Given the description of an element on the screen output the (x, y) to click on. 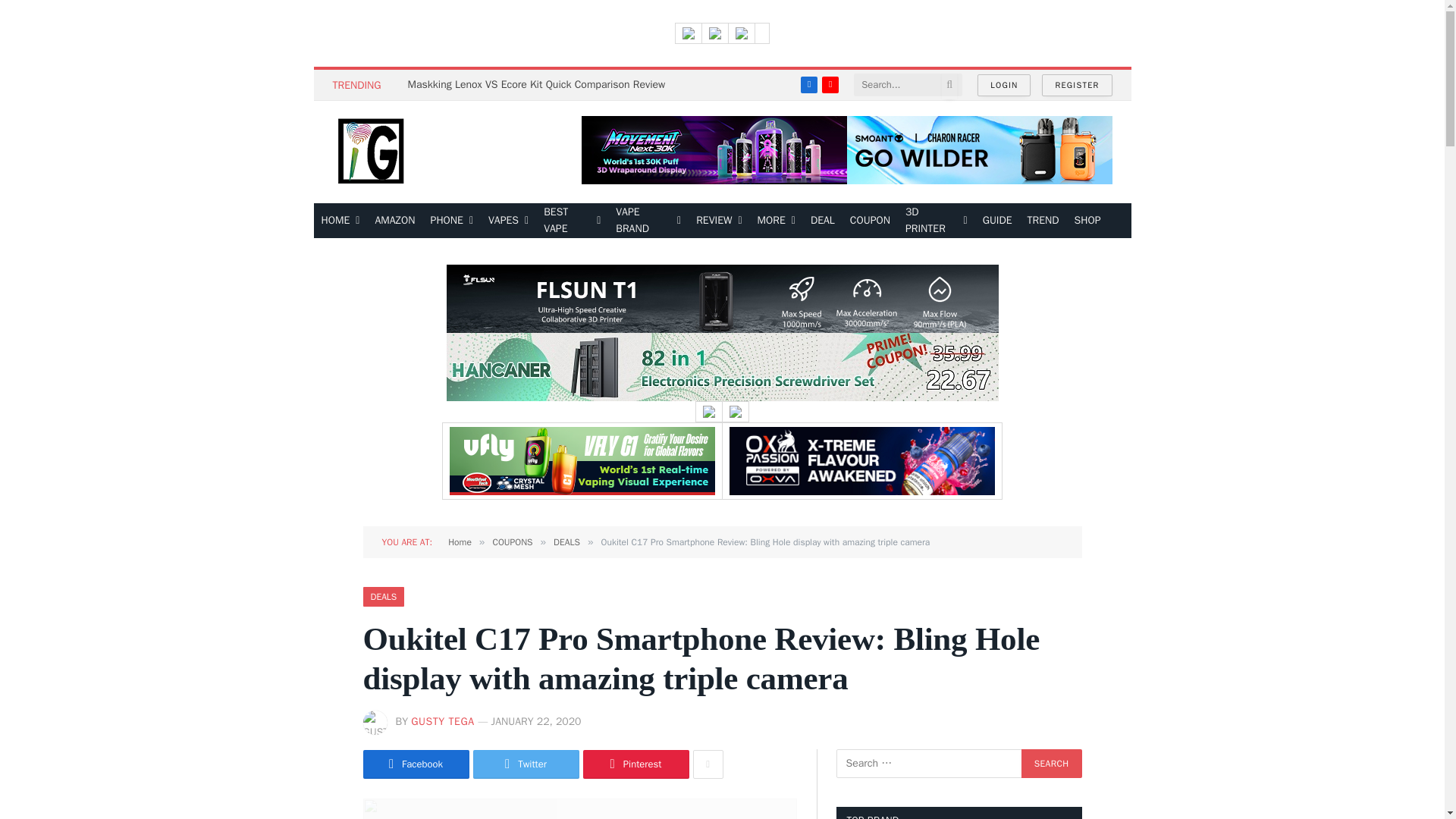
Share on Pinterest (635, 764)
Show More Social Sharing (708, 764)
Share on Facebook (415, 764)
REGISTER (1077, 85)
PHONE (451, 220)
Facebook (808, 84)
Search (1051, 763)
HOME (341, 220)
Share on Twitter (526, 764)
Search (1051, 763)
Posts by Gusty Tega (442, 721)
LOGIN (1003, 85)
YouTube (830, 84)
Maskking Lenox VS Ecore Kit Quick Comparison Review (539, 84)
